Given the description of an element on the screen output the (x, y) to click on. 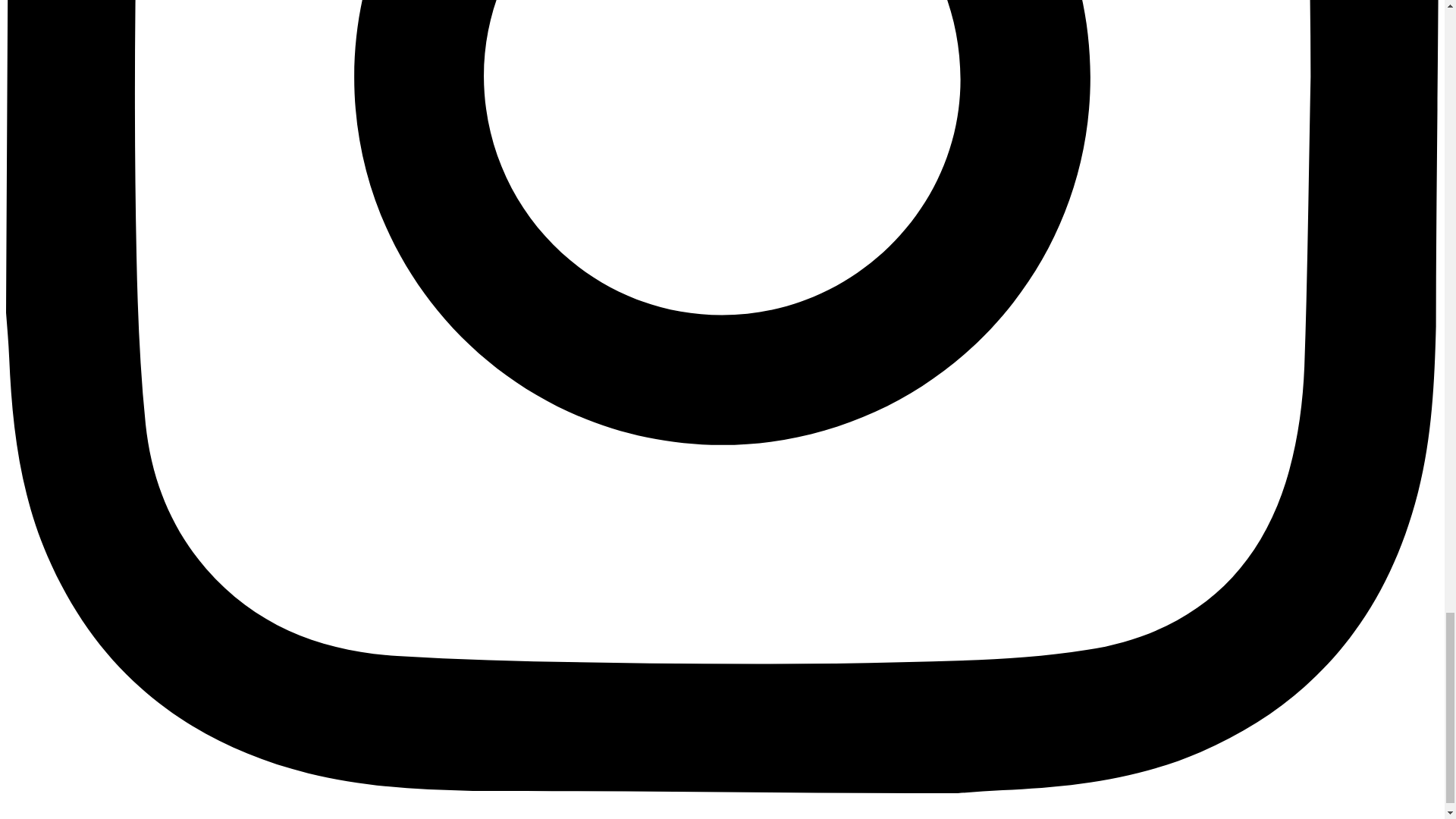
dashboard (154, 802)
POWERED BY ROCKETSPARK (262, 802)
